Given the description of an element on the screen output the (x, y) to click on. 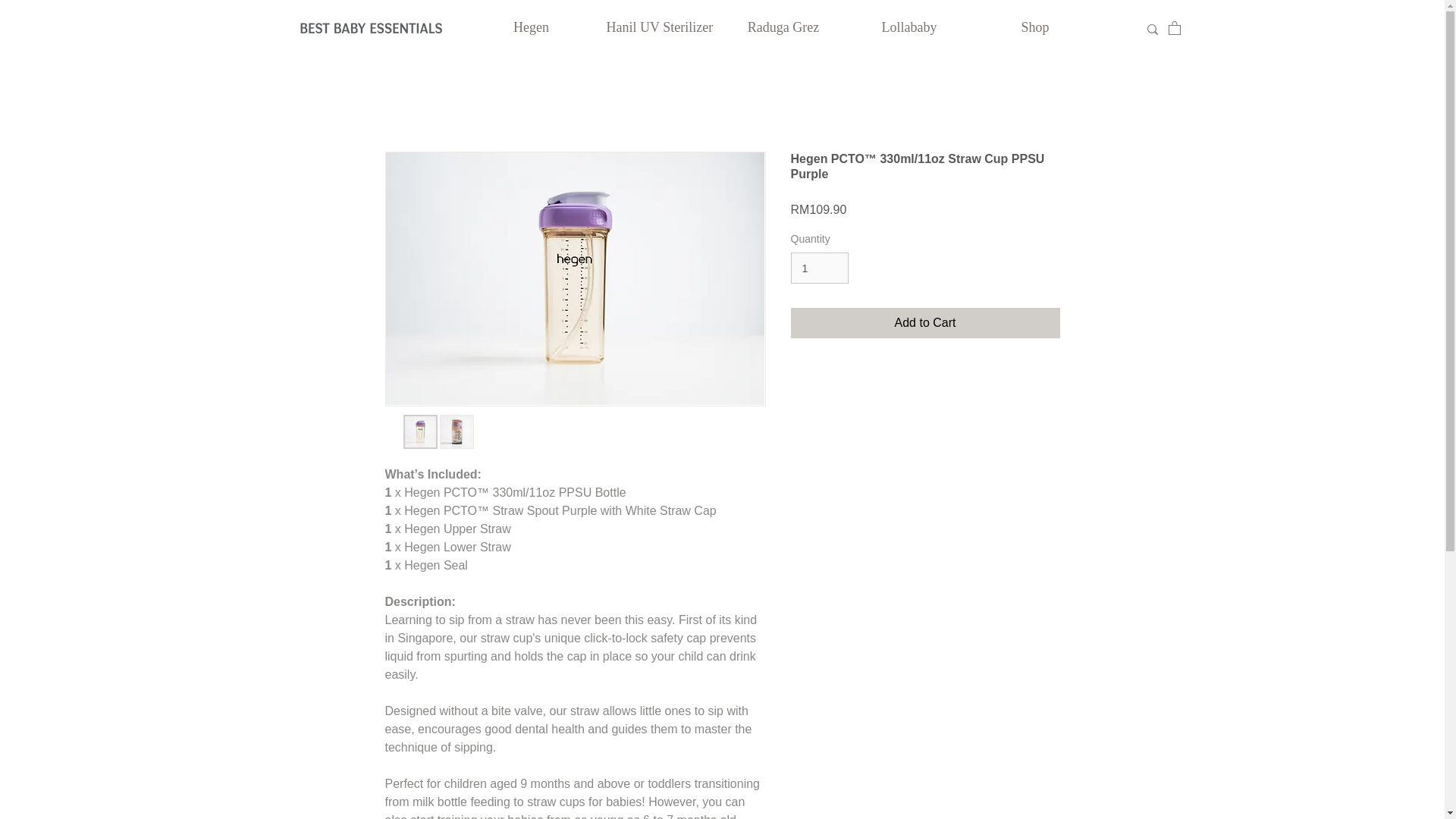
Shop (1034, 27)
Lollababy (908, 27)
Hegen (531, 27)
Raduga Grez (782, 27)
Add to Cart (924, 322)
1 (818, 267)
Hanil UV Sterilizer (657, 27)
